Given the description of an element on the screen output the (x, y) to click on. 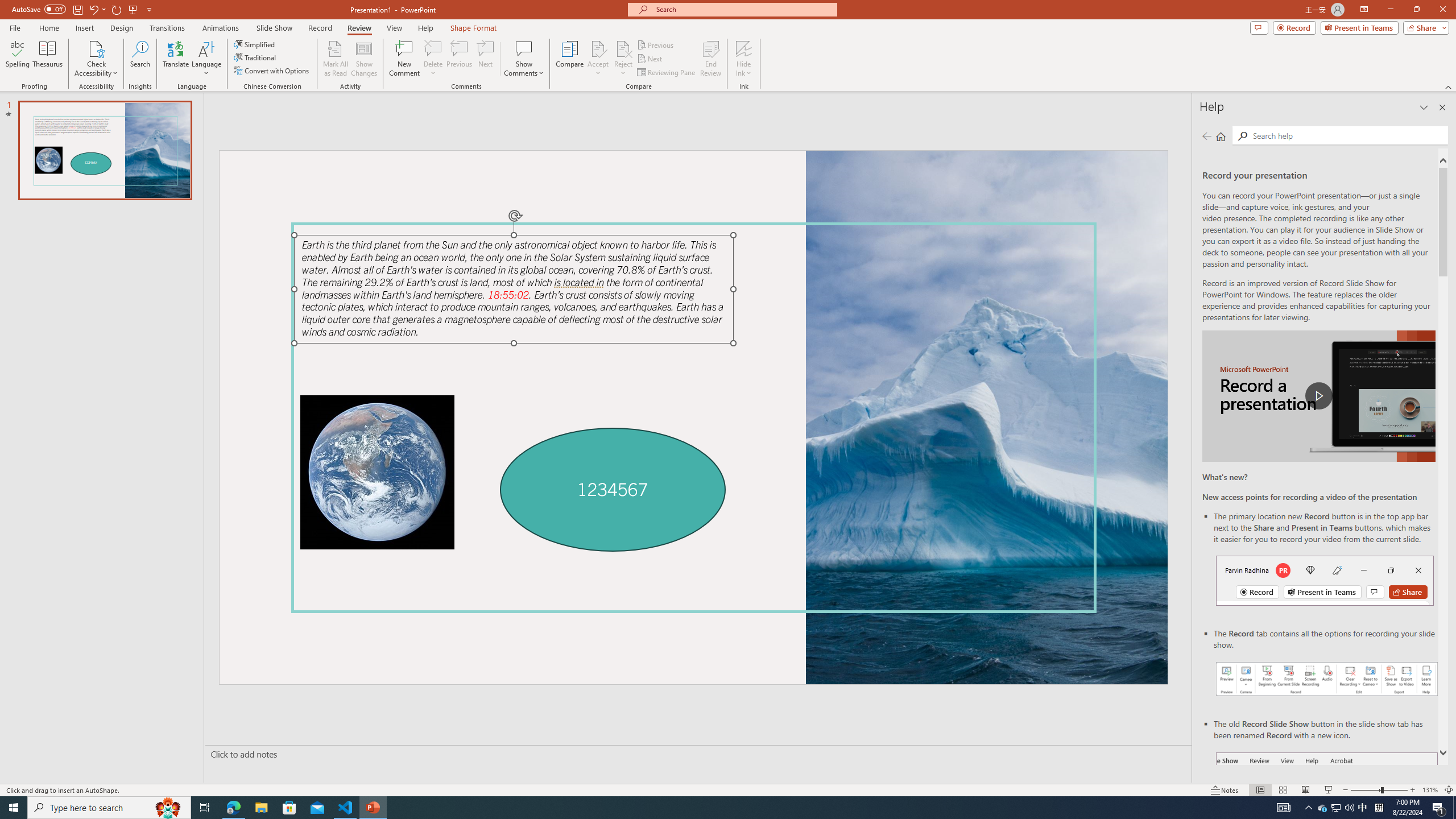
End Review (710, 58)
Reject (622, 58)
Mark All as Read (335, 58)
